Given the description of an element on the screen output the (x, y) to click on. 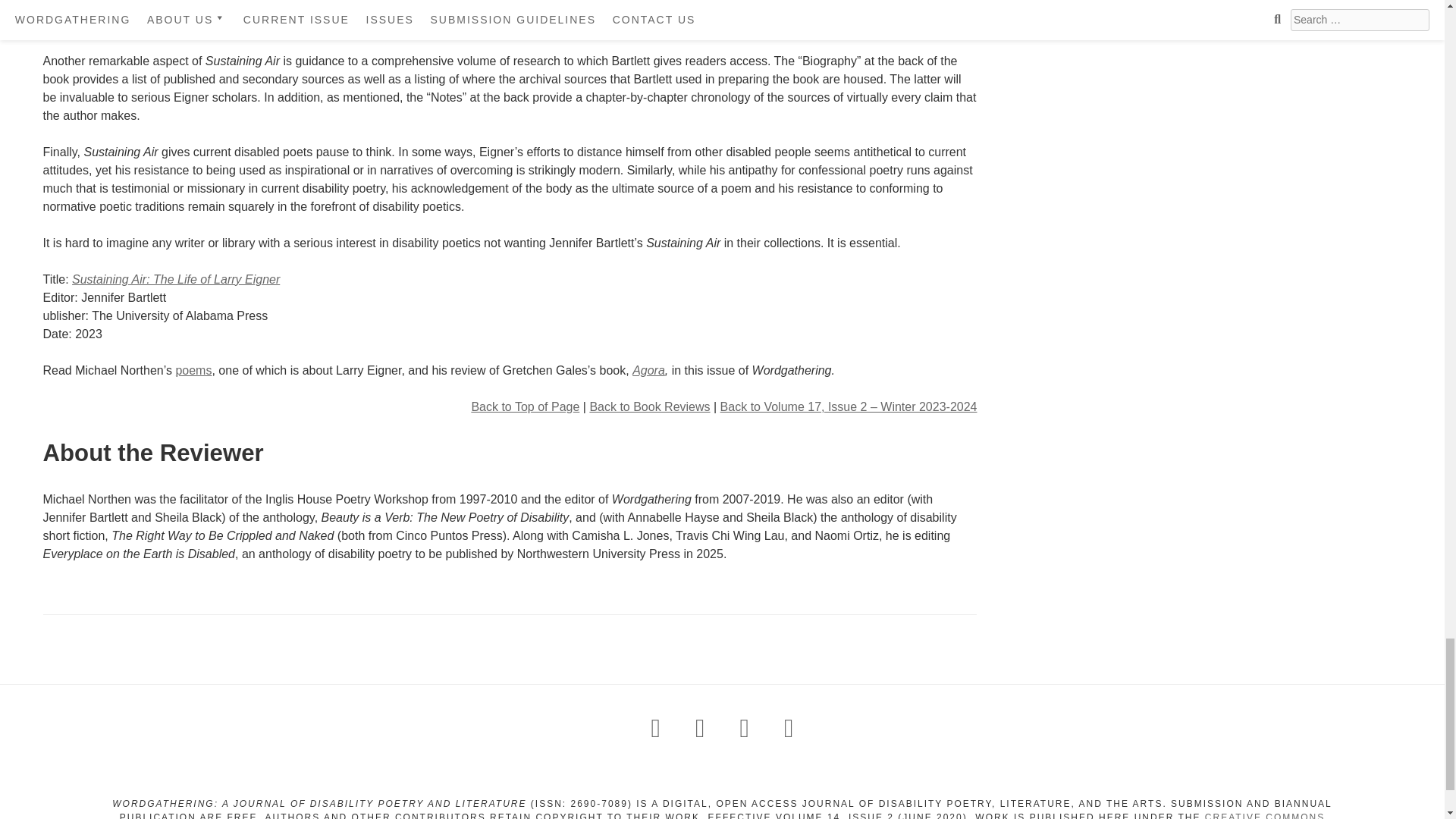
poems (192, 369)
Wordgathering on YouTube (788, 727)
Wordgathering on Facebook (655, 727)
Wordgathering Email (699, 727)
Sustaining Air: The Life of Larry Eigner (175, 278)
Back to Top of Page (524, 406)
Back to Book Reviews (649, 406)
Wordgathering on Twitter (744, 727)
Agora (648, 369)
